Given the description of an element on the screen output the (x, y) to click on. 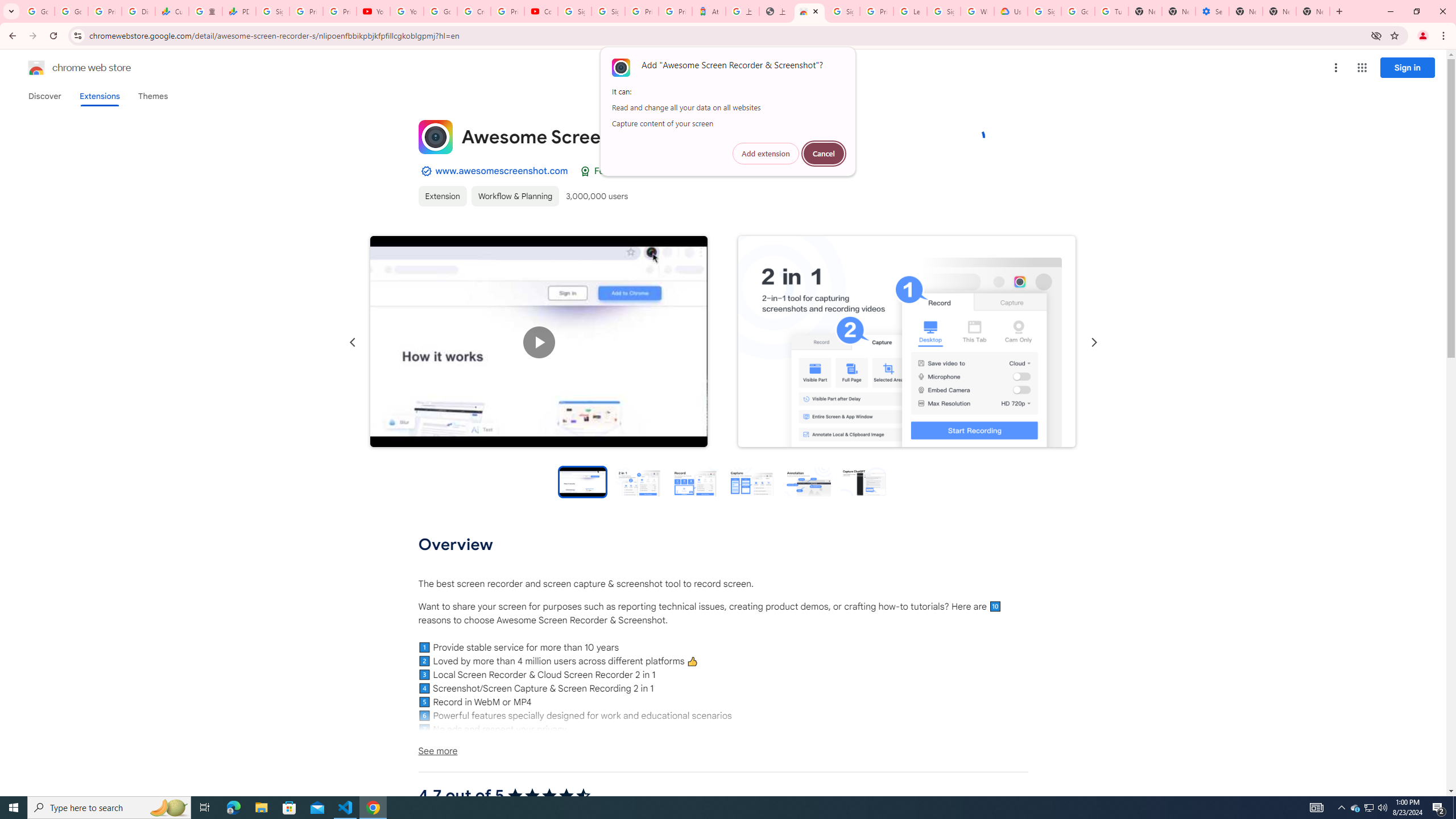
Preview slide 5 (807, 481)
Google Account Help (1077, 11)
www.awesomescreenshot.com (501, 170)
Settings - Addresses and more (1212, 11)
Extensions (99, 95)
Item video thumbnail (582, 481)
YouTube (372, 11)
Discover (43, 95)
Item logo image for Awesome Screen Recorder & Screenshot (434, 136)
